Given the description of an element on the screen output the (x, y) to click on. 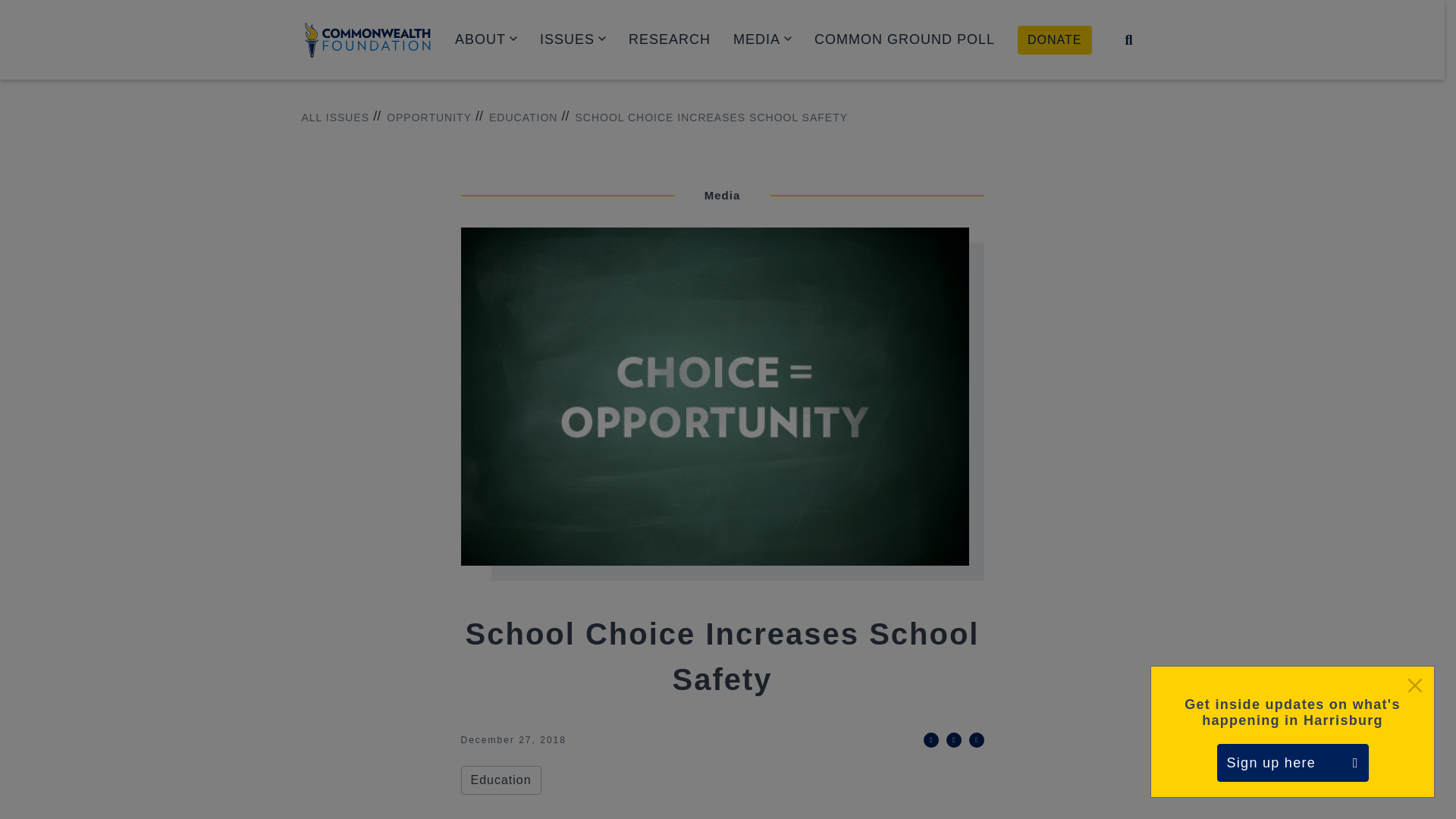
DONATE (1053, 39)
ABOUT (485, 39)
Search (1128, 39)
OPPORTUNITY (421, 117)
EDUCATION (516, 117)
SCHOOL CHOICE INCREASES SCHOOL SAFETY (703, 117)
Email (976, 739)
ISSUES (572, 39)
ALL ISSUES (335, 117)
LinkedIn (953, 739)
Twitter (931, 739)
Education (501, 779)
MEDIA (762, 39)
RESEARCH (669, 39)
COMMON GROUND POLL (903, 39)
